Given the description of an element on the screen output the (x, y) to click on. 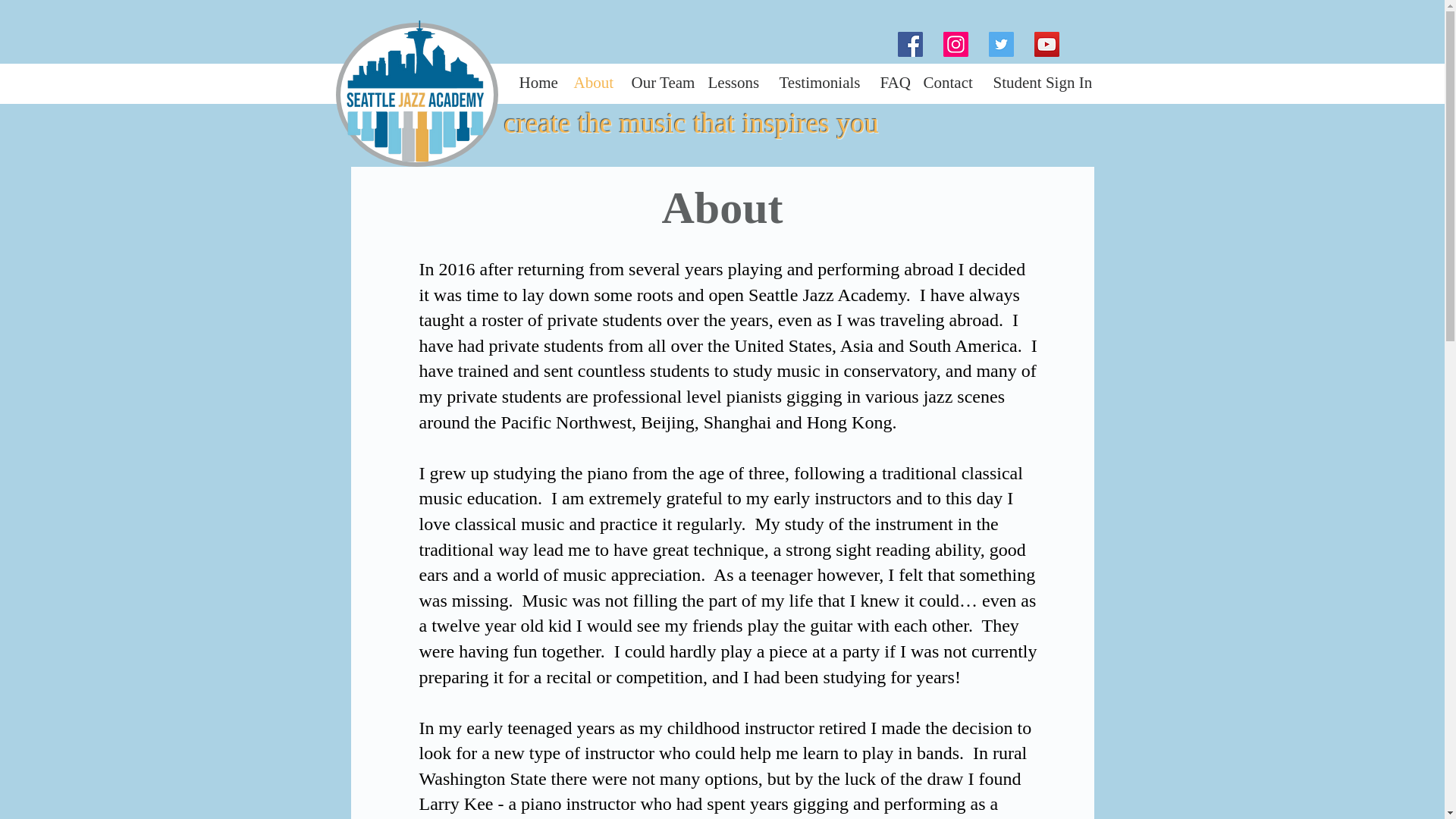
Student Sign In (1037, 82)
Home (535, 82)
About (591, 82)
Testimonials (817, 82)
Our Team (658, 82)
Contact (946, 82)
FAQ (890, 82)
